Given the description of an element on the screen output the (x, y) to click on. 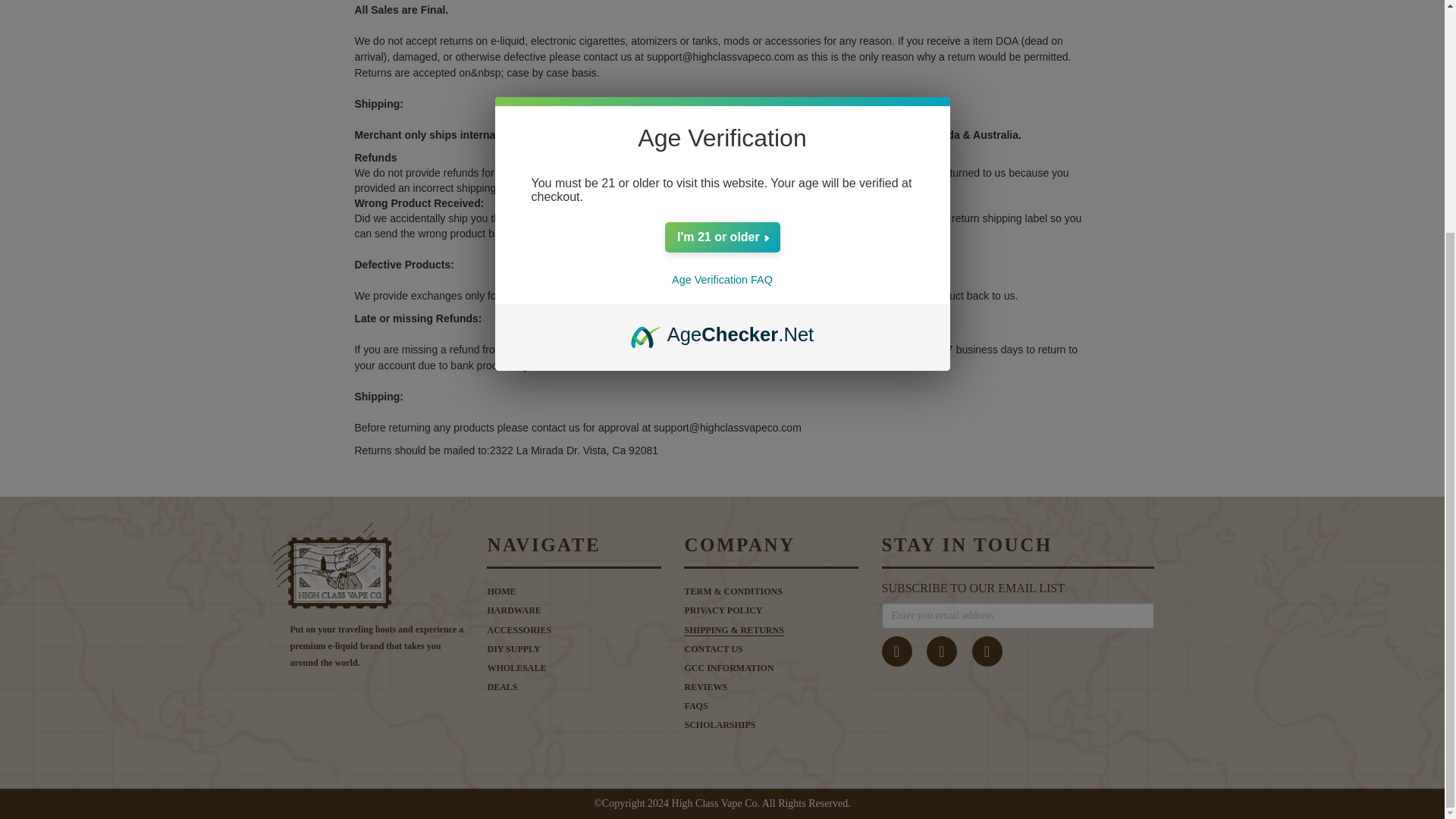
ACCESSORIES (573, 630)
FAQS (771, 706)
WHOLESALE (573, 667)
DEALS (573, 686)
HOME (573, 591)
GCC INFORMATION (771, 667)
HARDWARE (573, 610)
PRIVACY POLICY (771, 610)
CONTACT US (771, 649)
DIY SUPPLY (573, 649)
REVIEWS (771, 686)
